Given the description of an element on the screen output the (x, y) to click on. 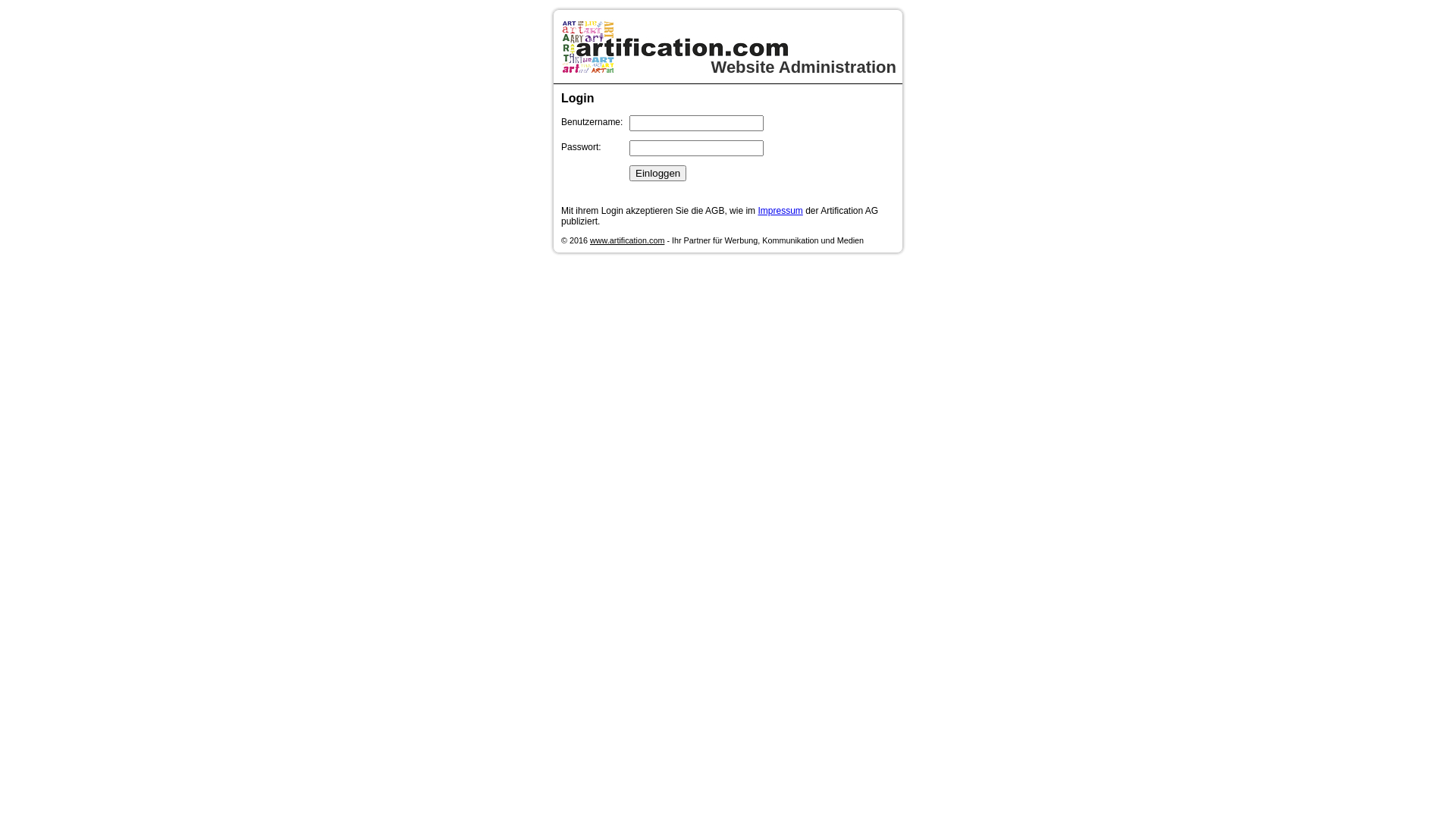
Einloggen Element type: text (657, 173)
www.artification.com Element type: text (626, 239)
Impressum Element type: text (779, 210)
